Given the description of an element on the screen output the (x, y) to click on. 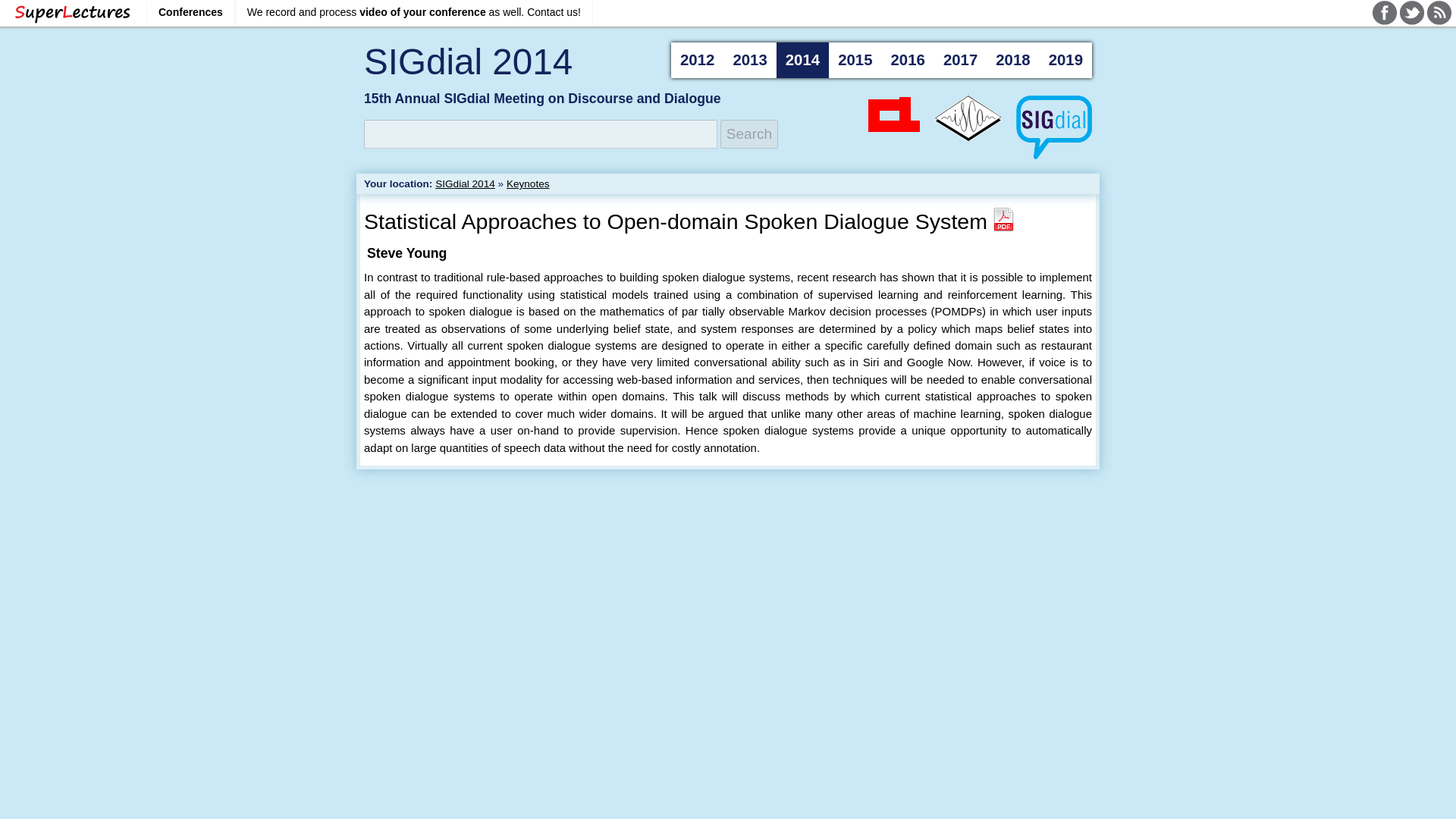
SIGdial 2014 (468, 61)
SuperLectures Blog (1438, 12)
SIGdial 2014 (465, 183)
2019 (1065, 59)
Search (748, 133)
2015 (854, 59)
SuperLectures on Twitter (1411, 12)
2016 (906, 59)
2017 (960, 59)
2013 (749, 59)
